Given the description of an element on the screen output the (x, y) to click on. 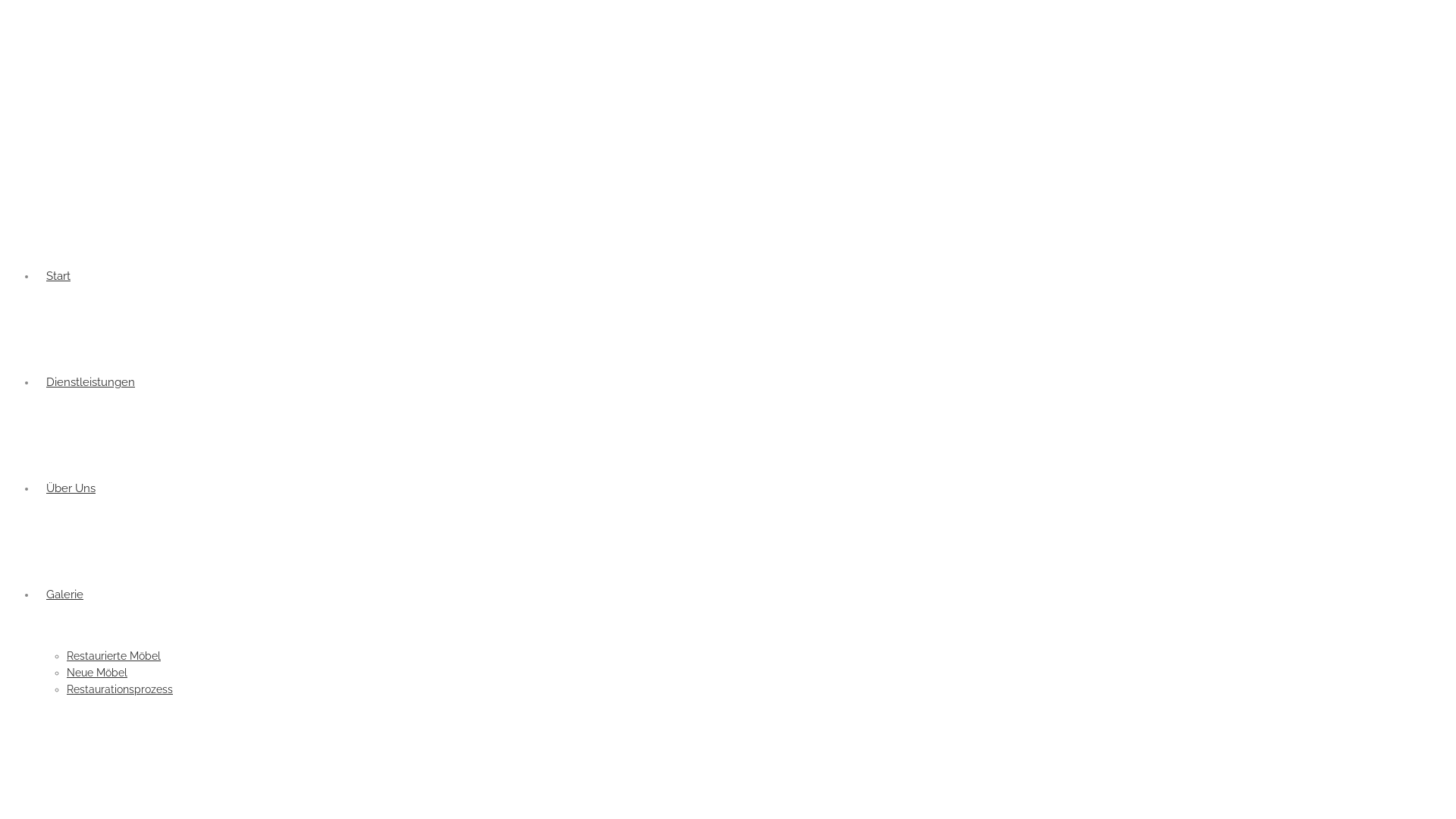
Dienstleistungen Element type: text (90, 382)
Galerie Element type: text (64, 594)
Start Element type: text (58, 275)
Restaurationsprozess Element type: text (119, 689)
